Given the description of an element on the screen output the (x, y) to click on. 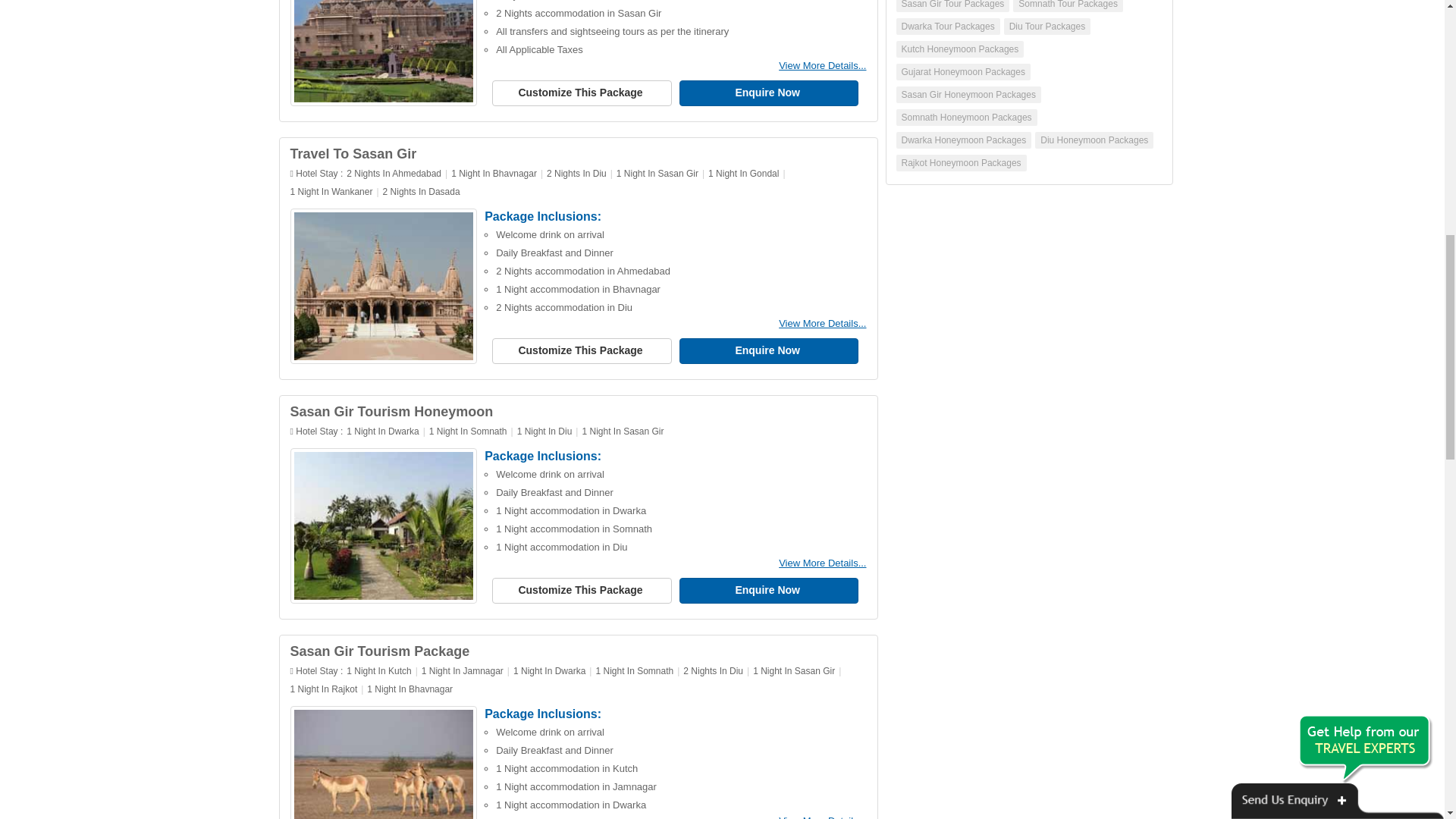
View More Details... (822, 816)
Customize This Package (581, 93)
Enquire Now (769, 350)
Sasan Gir Tourism Package (378, 651)
Customize This Package (581, 590)
Enquire Now (769, 590)
View More Details... (822, 323)
Customize This Package (581, 350)
View More Details... (822, 65)
Travel To Sasan Gir (352, 153)
Sasan Gir Tourism Honeymoon (391, 411)
Enquire Now (769, 93)
View More Details... (822, 562)
